Given the description of an element on the screen output the (x, y) to click on. 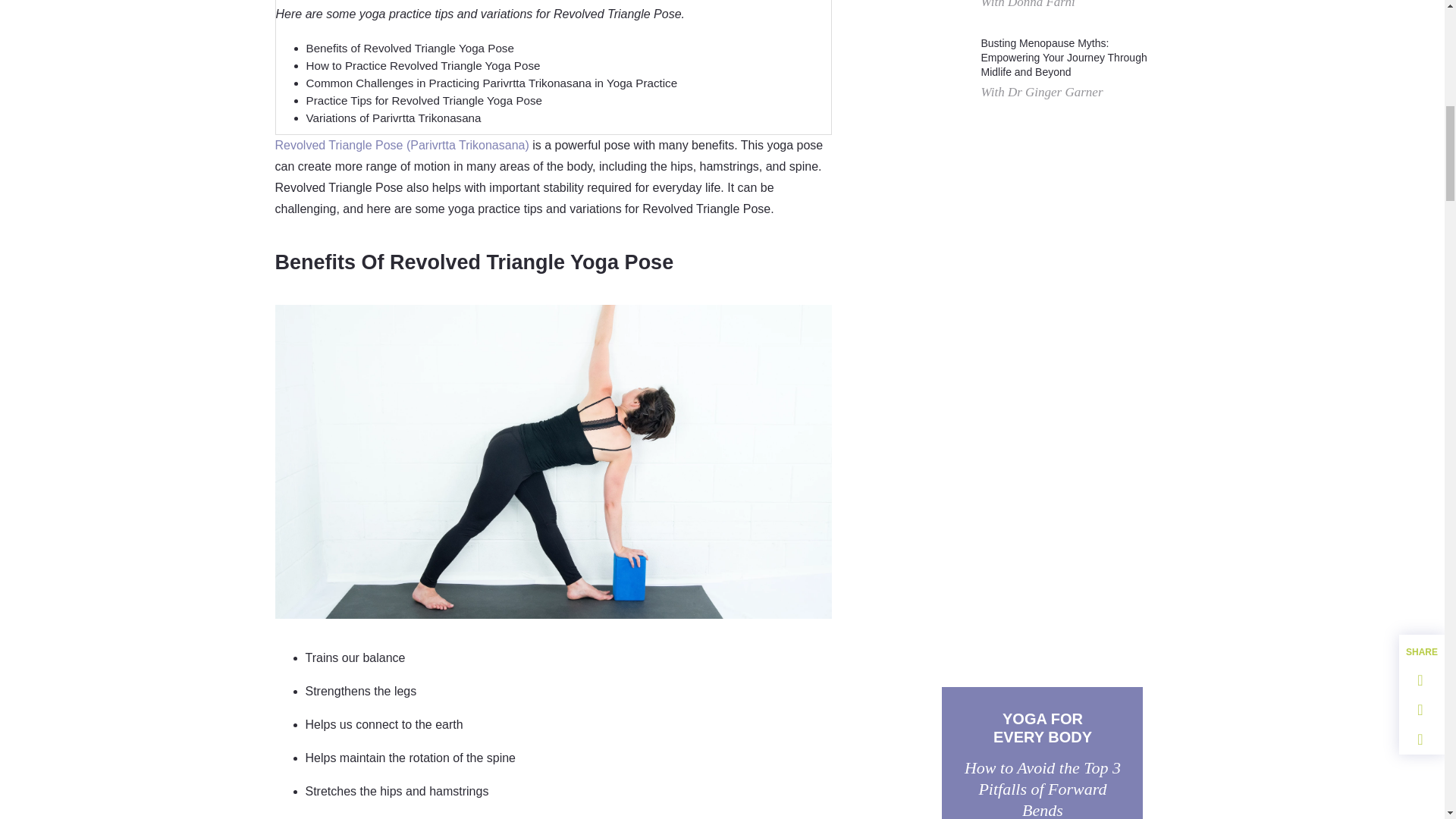
Variations of Parivrtta Trikonasana (393, 117)
Benefits of Revolved Triangle Yoga Pose (409, 47)
Practice Tips for Revolved Triangle Yoga Pose  (424, 100)
How to Practice Revolved Triangle Yoga Pose (422, 65)
Practice Tips for Revolved Triangle Yoga Pose (424, 100)
How to Practice Revolved Triangle Yoga Pose (422, 65)
Variations of Parivrtta Trikonasana (393, 117)
Benefits of Revolved Triangle Yoga Pose (409, 47)
